Given the description of an element on the screen output the (x, y) to click on. 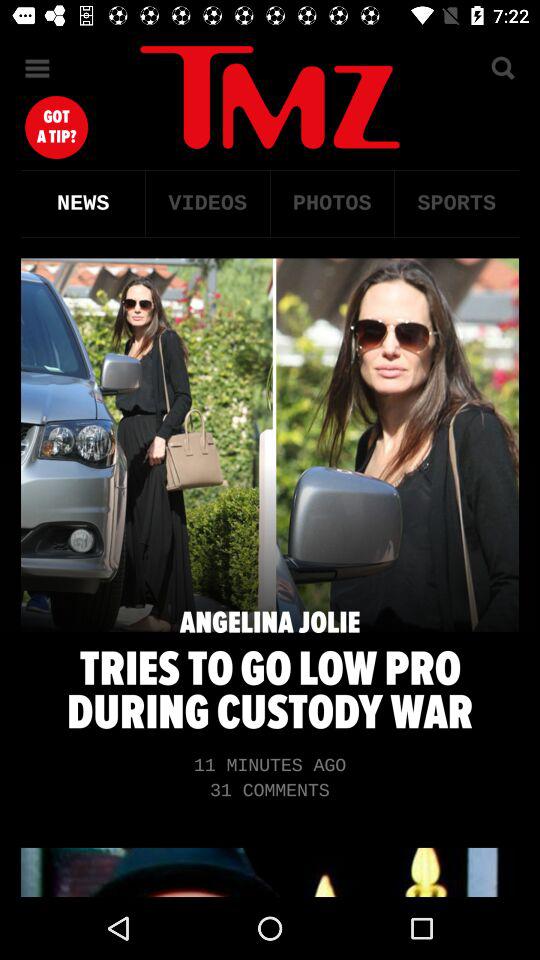
go to customize option (37, 68)
